Given the description of an element on the screen output the (x, y) to click on. 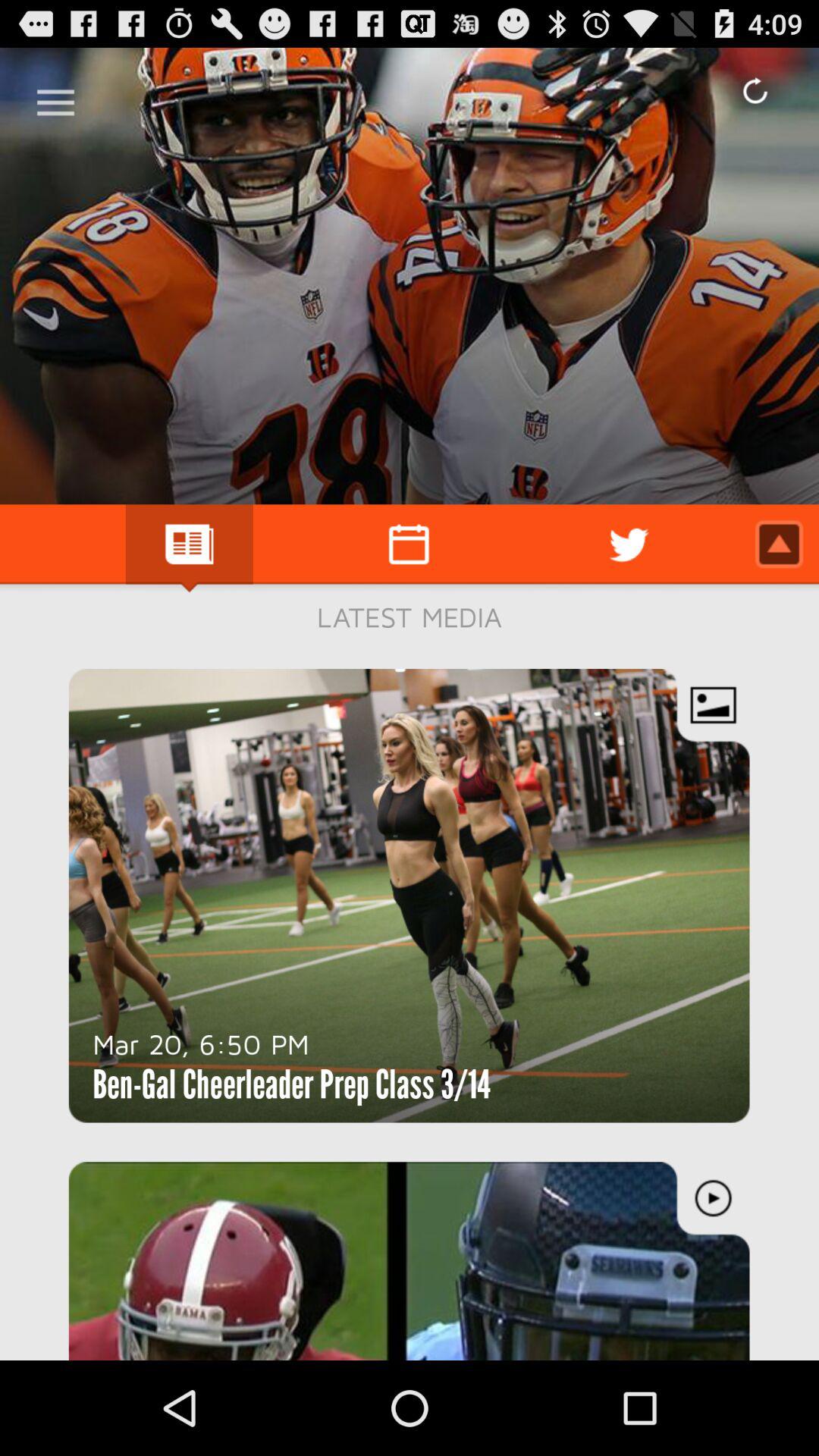
swipe to the ben gal cheerleader icon (291, 1084)
